Given the description of an element on the screen output the (x, y) to click on. 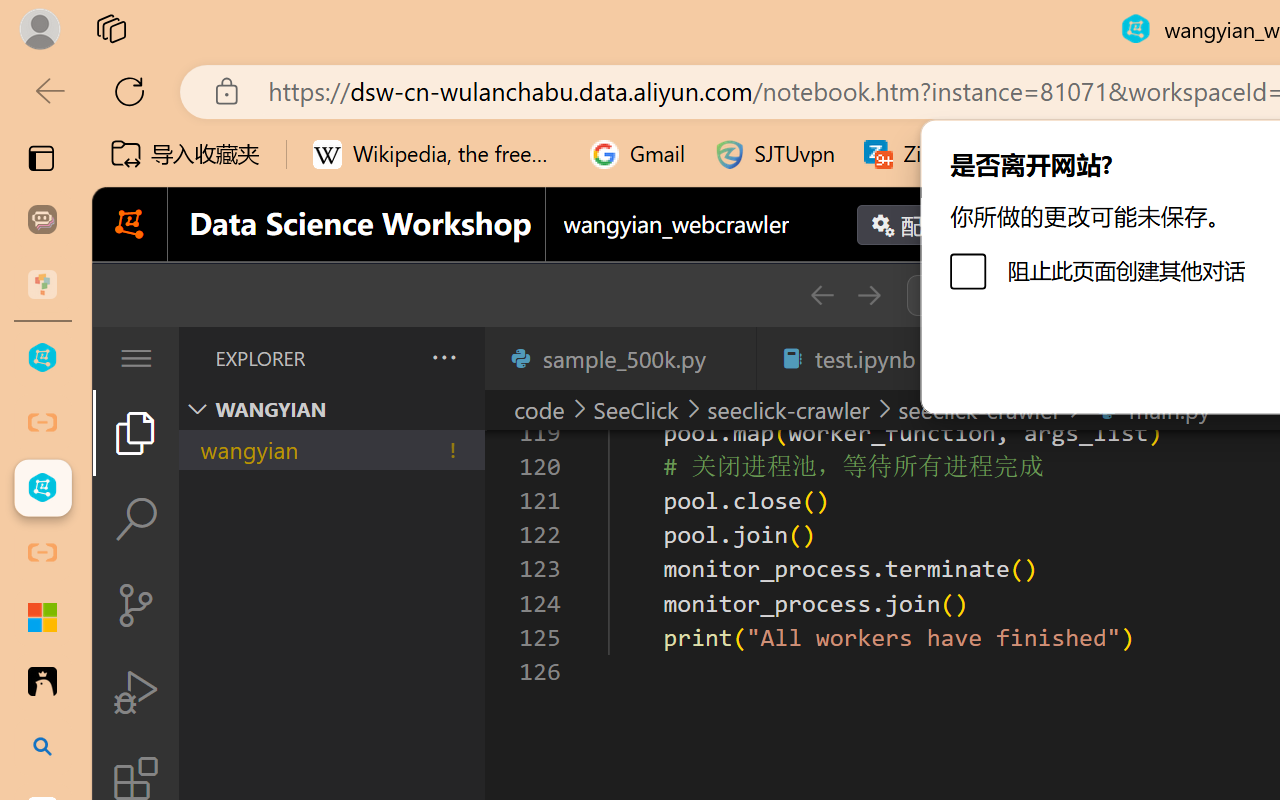
Explorer Section: wangyian (331, 409)
wangyian_dsw - DSW (42, 357)
Run and Debug (Ctrl+Shift+D) (135, 692)
Wikipedia, the free encyclopedia (437, 154)
Explorer (Ctrl+Shift+E) (135, 432)
Gmail (637, 154)
Search (Ctrl+Shift+F) (135, 519)
Application Menu (135, 358)
Tab actions (730, 358)
wangyian_webcrawler - DSW (42, 487)
Adjust indents and spacing - Microsoft Support (42, 617)
